Given the description of an element on the screen output the (x, y) to click on. 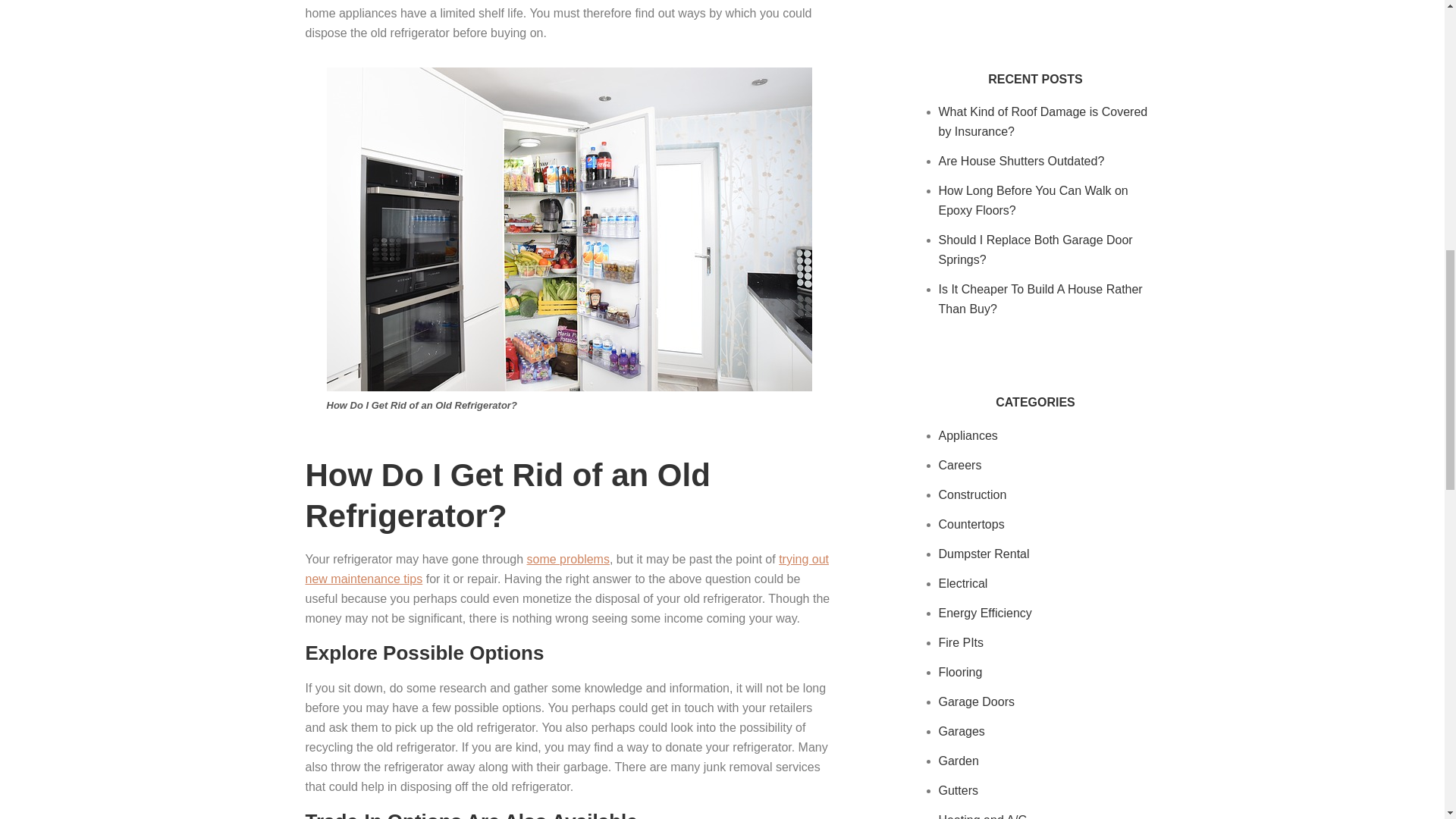
Construction (973, 494)
Garage Doors (976, 701)
Are House Shutters Outdated? (1022, 160)
Dumpster Rental (984, 553)
Should I Replace Both Garage Door Springs? (1035, 249)
Flooring (960, 671)
Energy Efficiency (985, 612)
trying out new maintenance tips (566, 568)
How Long Before You Can Walk on Epoxy Floors? (1033, 200)
Appliances (968, 435)
